Given the description of an element on the screen output the (x, y) to click on. 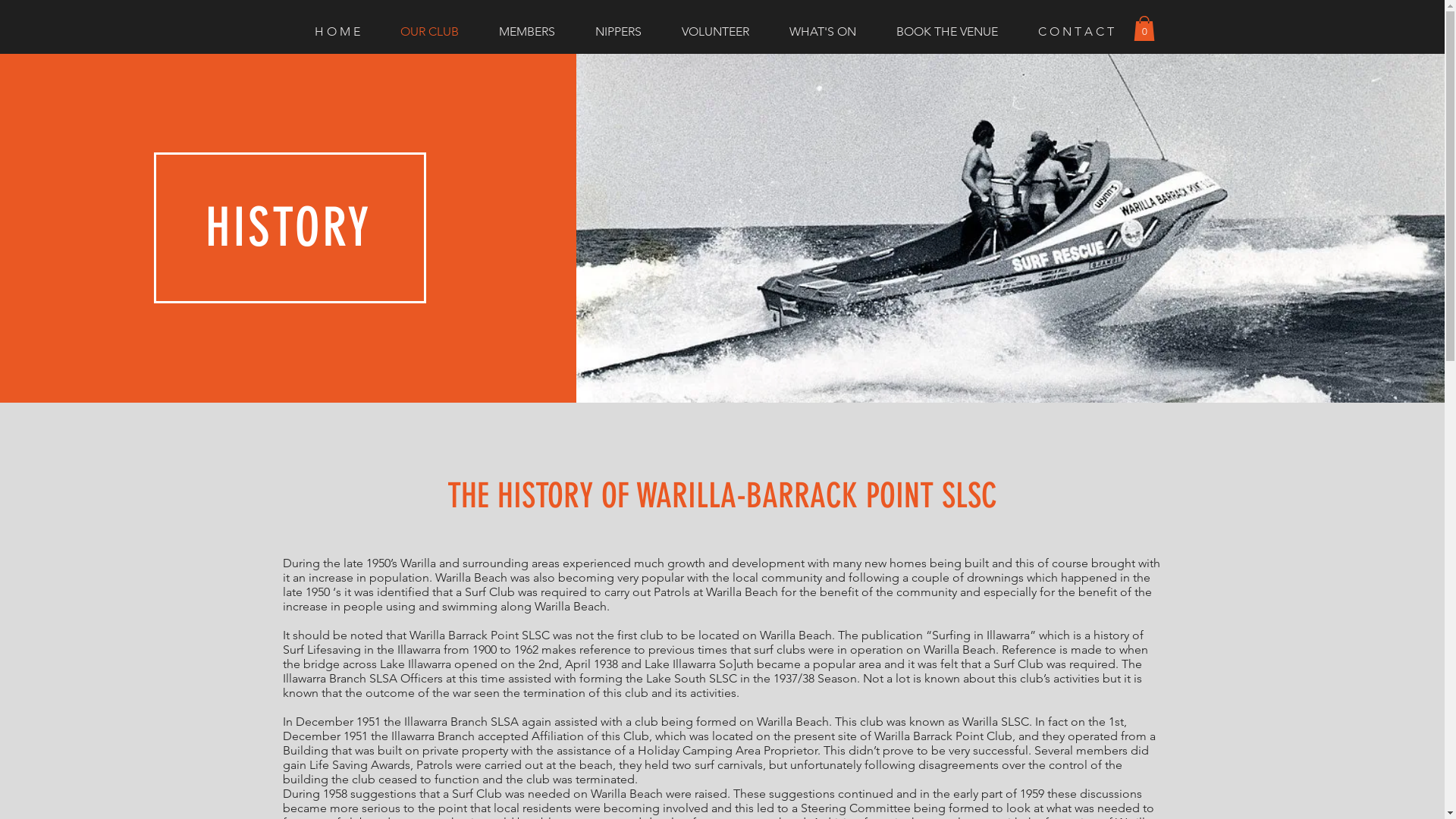
WHAT'S ON Element type: text (831, 31)
C O N T A C T Element type: text (1084, 31)
0 Element type: text (1143, 27)
VOLUNTEER Element type: text (724, 31)
NIPPERS Element type: text (626, 31)
MEMBERS Element type: text (534, 31)
OUR CLUB Element type: text (437, 31)
H O M E Element type: text (346, 31)
BOOK THE VENUE Element type: text (955, 31)
